Given the description of an element on the screen output the (x, y) to click on. 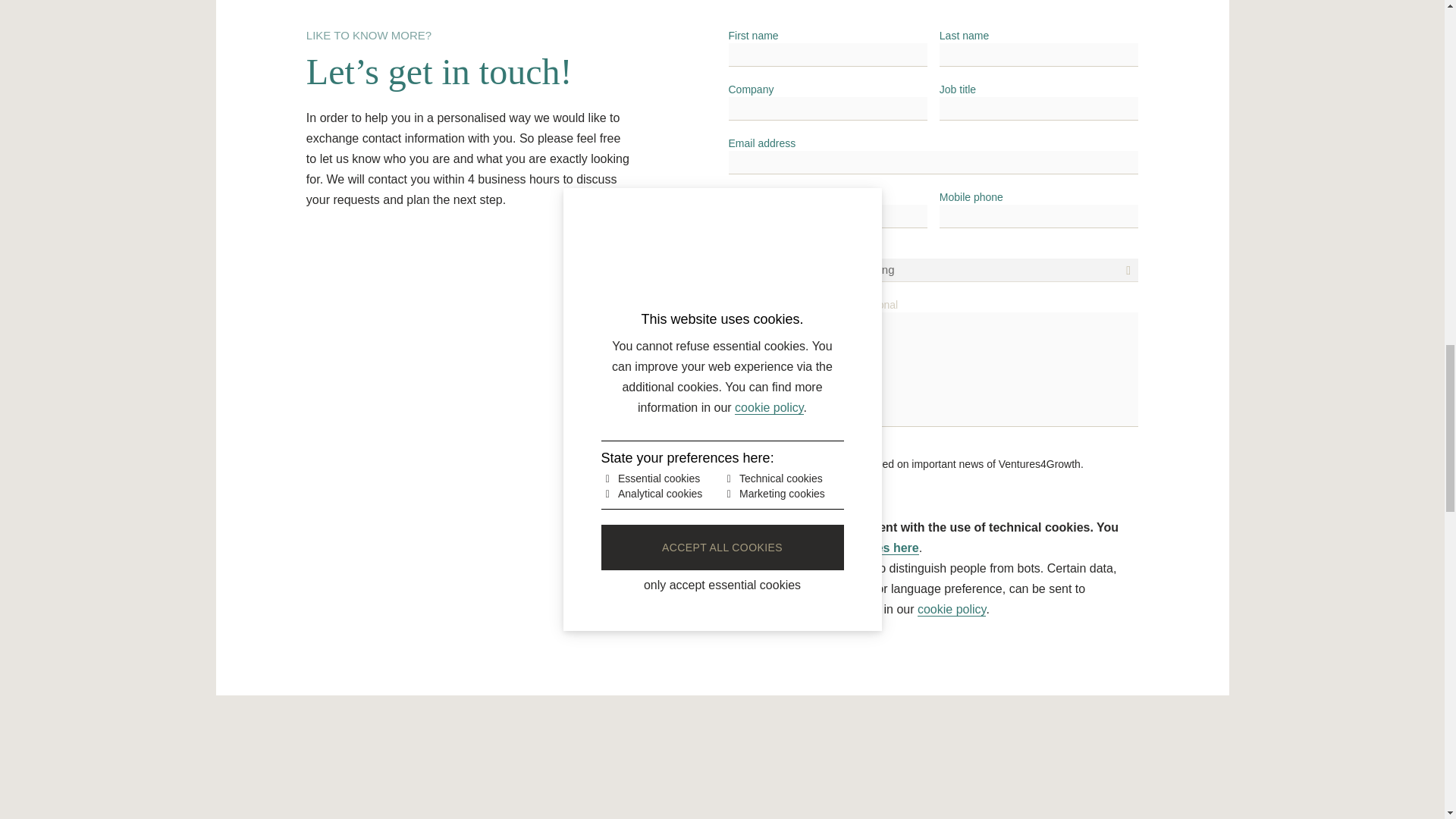
accept these cookies here (843, 548)
cookie policy (951, 609)
cookie policy (951, 609)
